Given the description of an element on the screen output the (x, y) to click on. 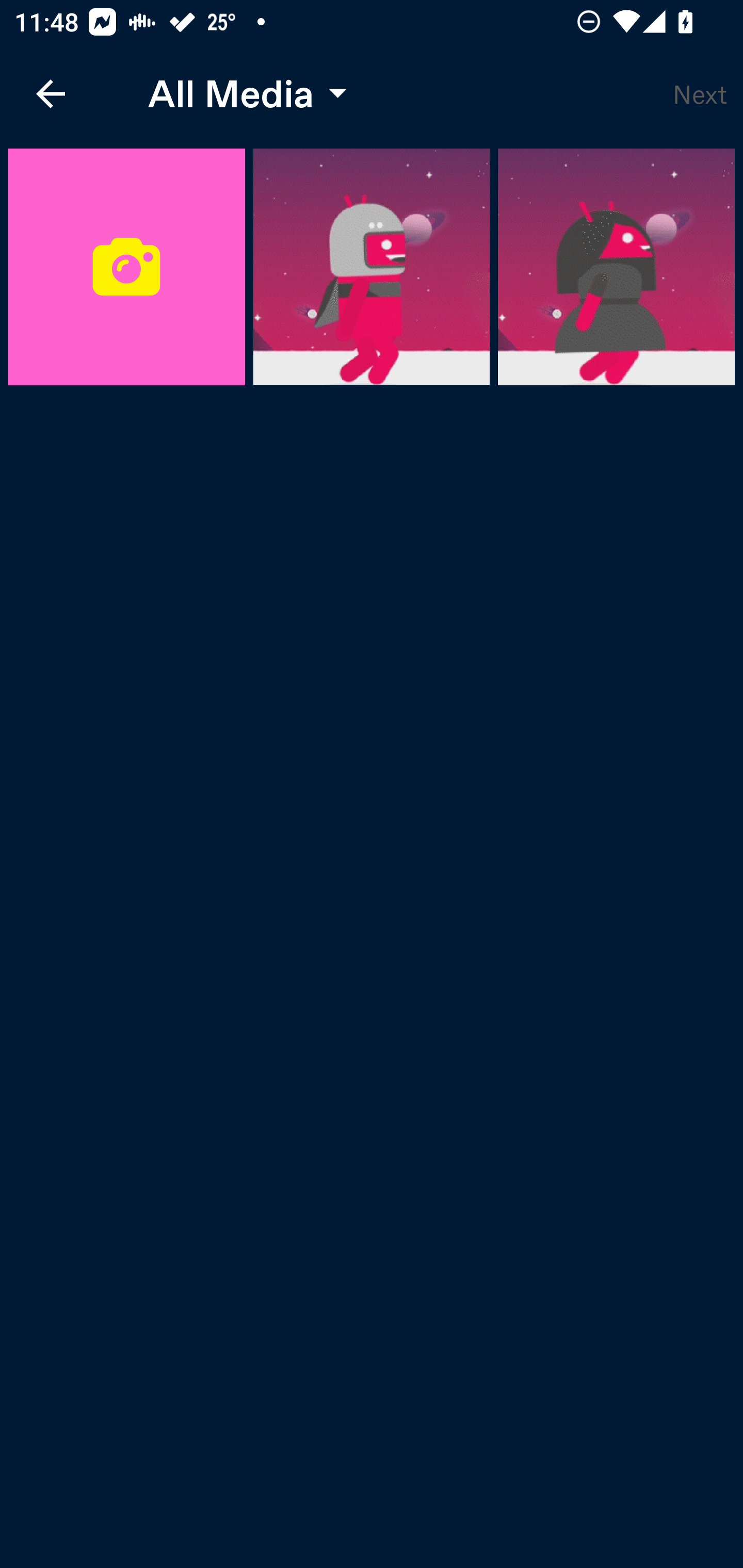
Navigate up (50, 93)
All Media (242, 93)
Next (699, 93)
Gallery Media Item image1 of 3 (371, 266)
Gallery Media Item image2 of 3 (615, 266)
